Given the description of an element on the screen output the (x, y) to click on. 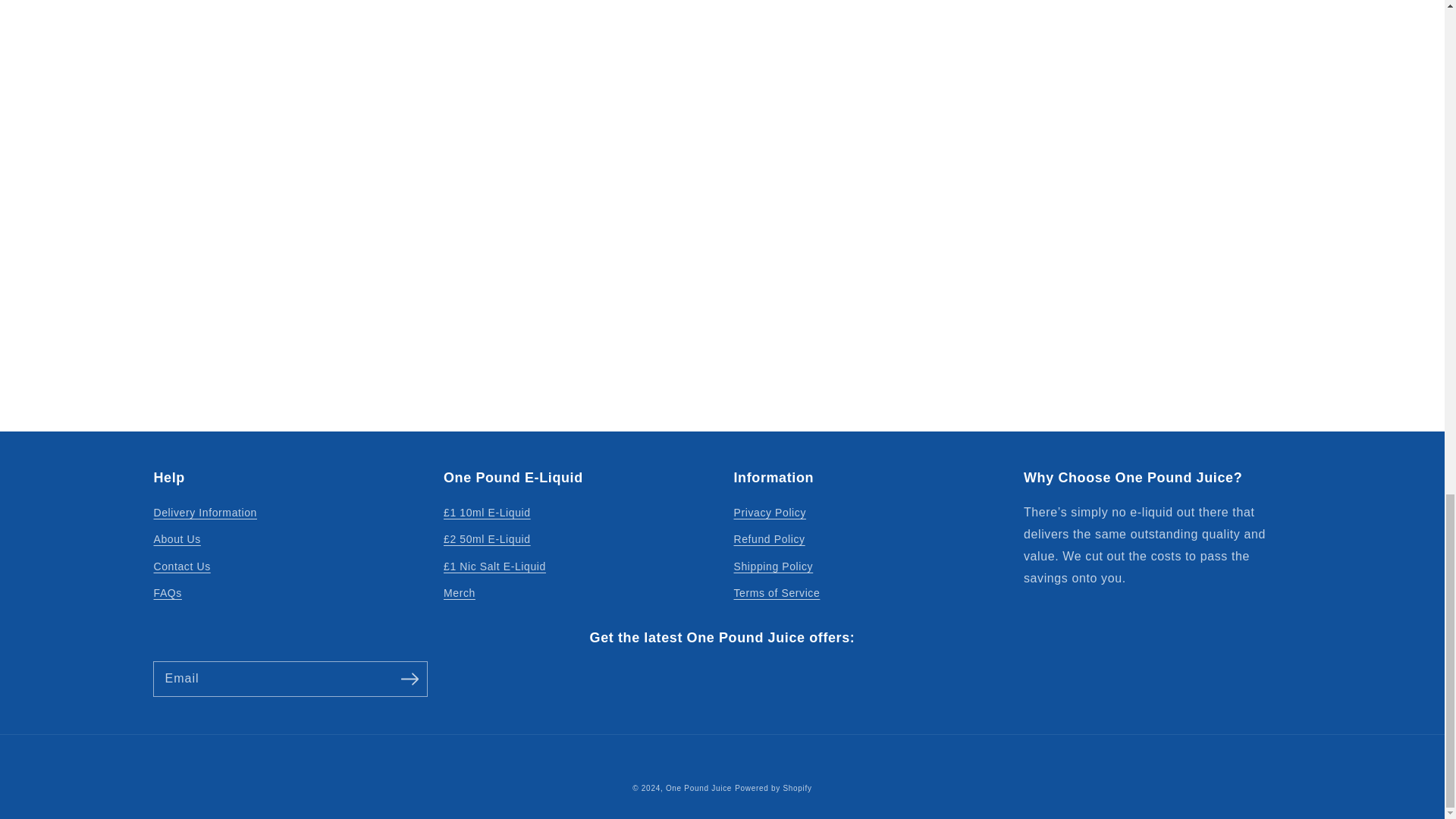
Delivery Information (204, 514)
Contact Us (180, 566)
About Us (176, 539)
